Given the description of an element on the screen output the (x, y) to click on. 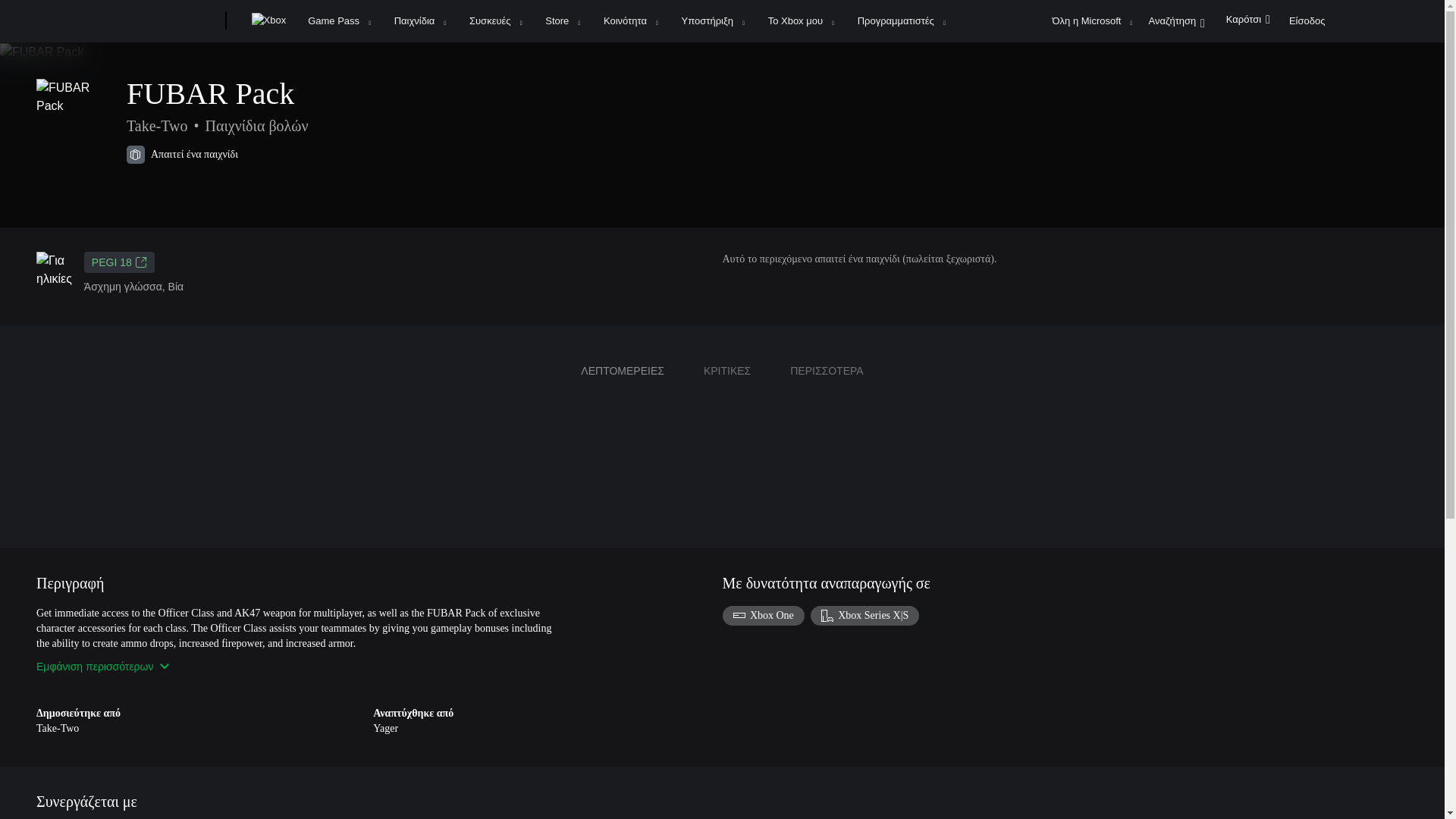
Game Pass (338, 20)
Microsoft (167, 20)
Store (562, 20)
